Given the description of an element on the screen output the (x, y) to click on. 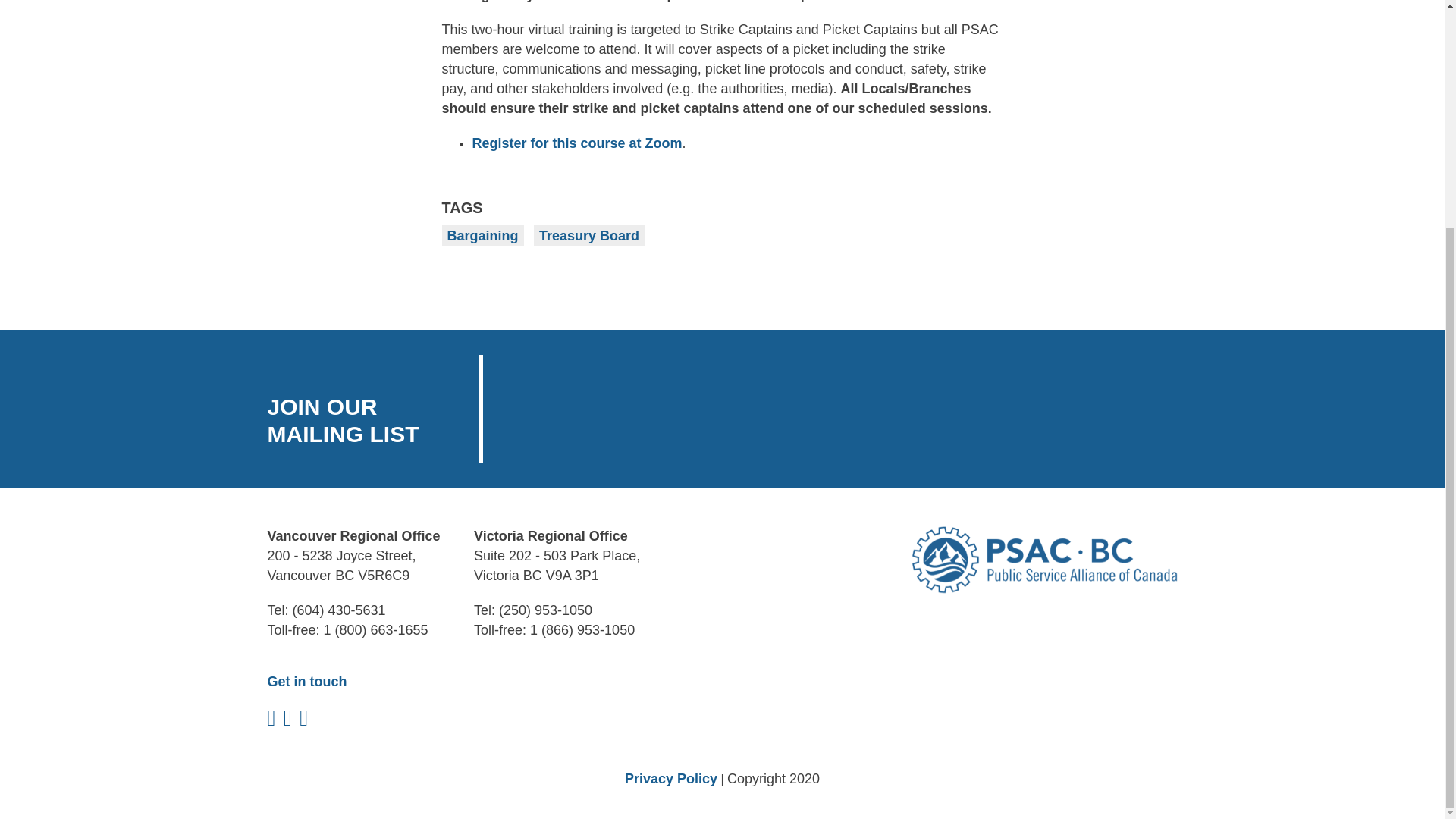
Treasury Board (589, 235)
Register for this course at Zoom (576, 142)
Bargaining (481, 235)
Get in touch (306, 681)
